Given the description of an element on the screen output the (x, y) to click on. 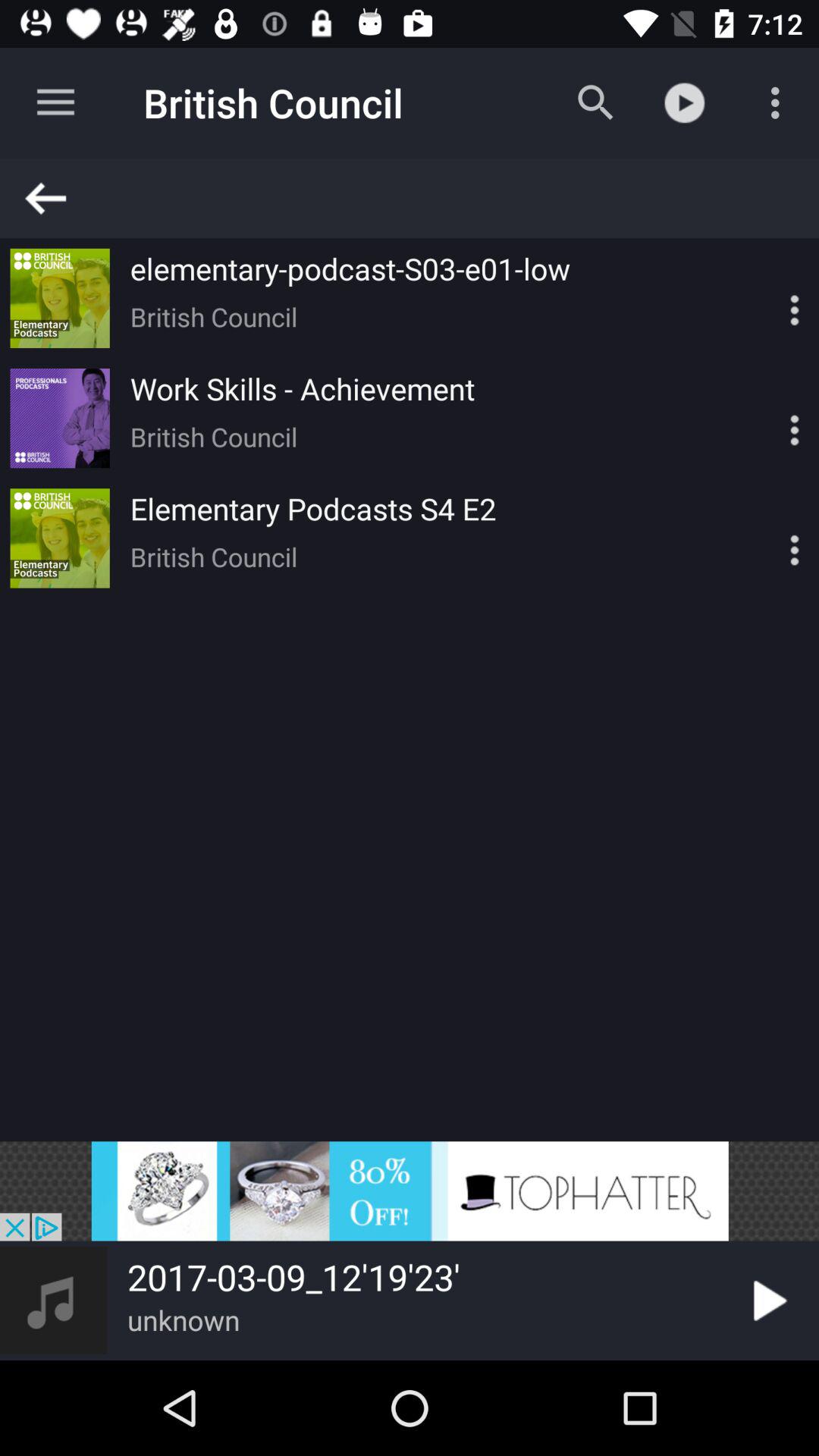
play option (767, 1300)
